Given the description of an element on the screen output the (x, y) to click on. 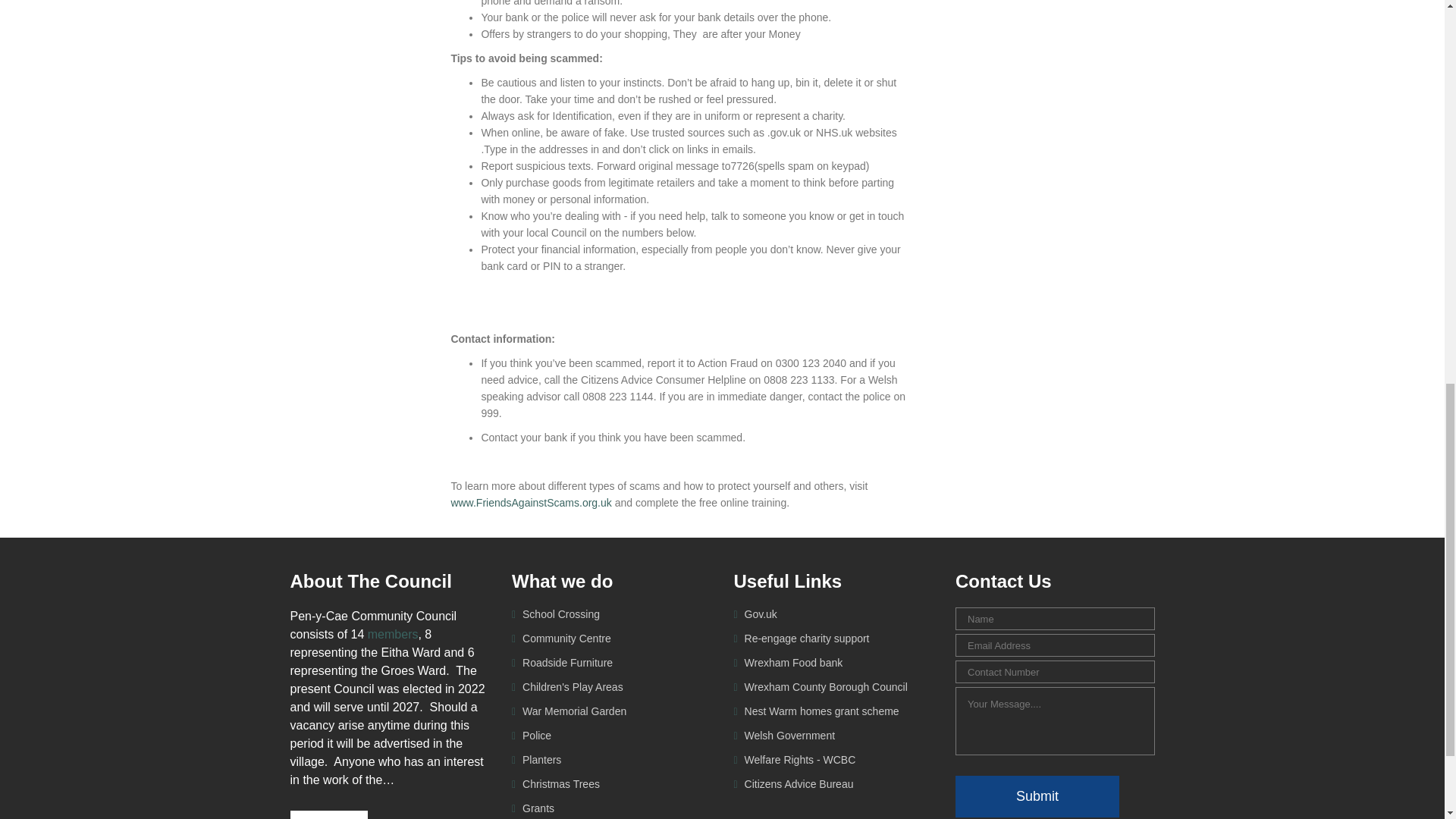
Roadside Furniture (565, 662)
View More (327, 814)
Planters (539, 759)
Grants (536, 808)
www.FriendsAgainstScams.org.uk (530, 502)
Children's Play Areas (571, 686)
members (393, 634)
School Crossing (559, 613)
Christmas Trees (559, 784)
War Memorial Garden (572, 711)
Police (535, 735)
Community Centre (565, 638)
